Given the description of an element on the screen output the (x, y) to click on. 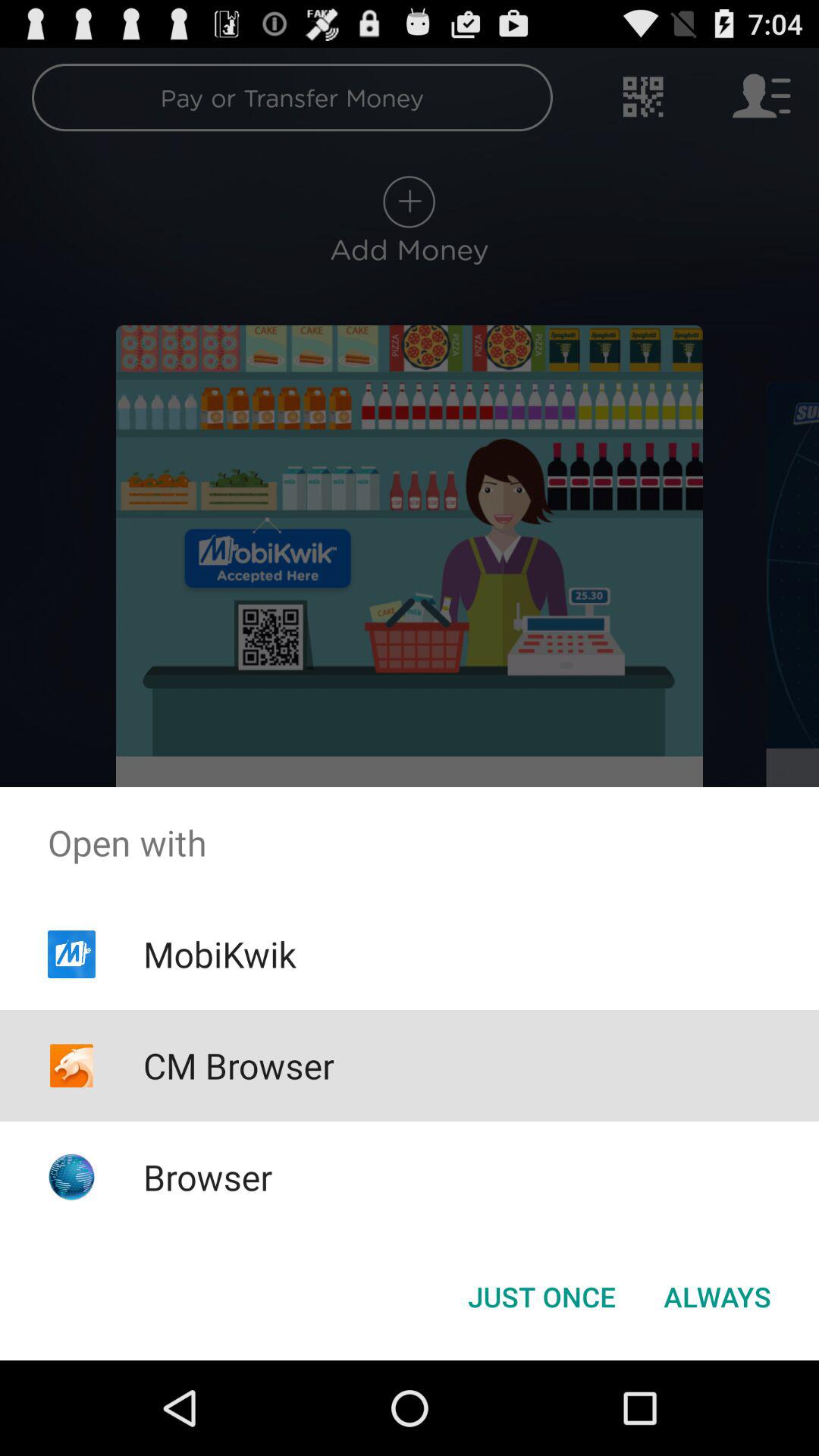
press the button to the left of the always icon (541, 1296)
